Given the description of an element on the screen output the (x, y) to click on. 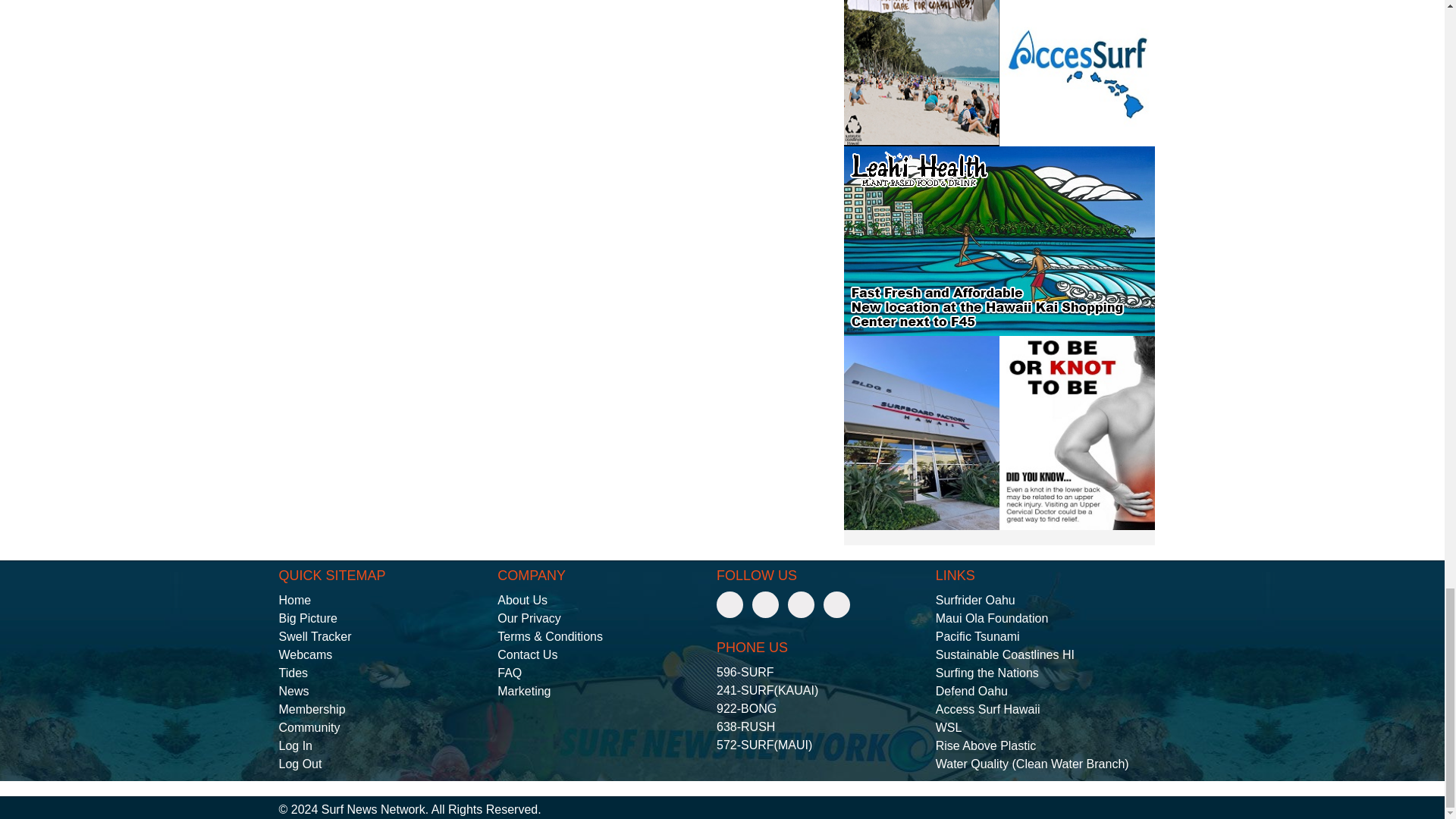
Facebook (729, 604)
Youtube (837, 604)
Instagram (800, 604)
Twitter (765, 604)
